Given the description of an element on the screen output the (x, y) to click on. 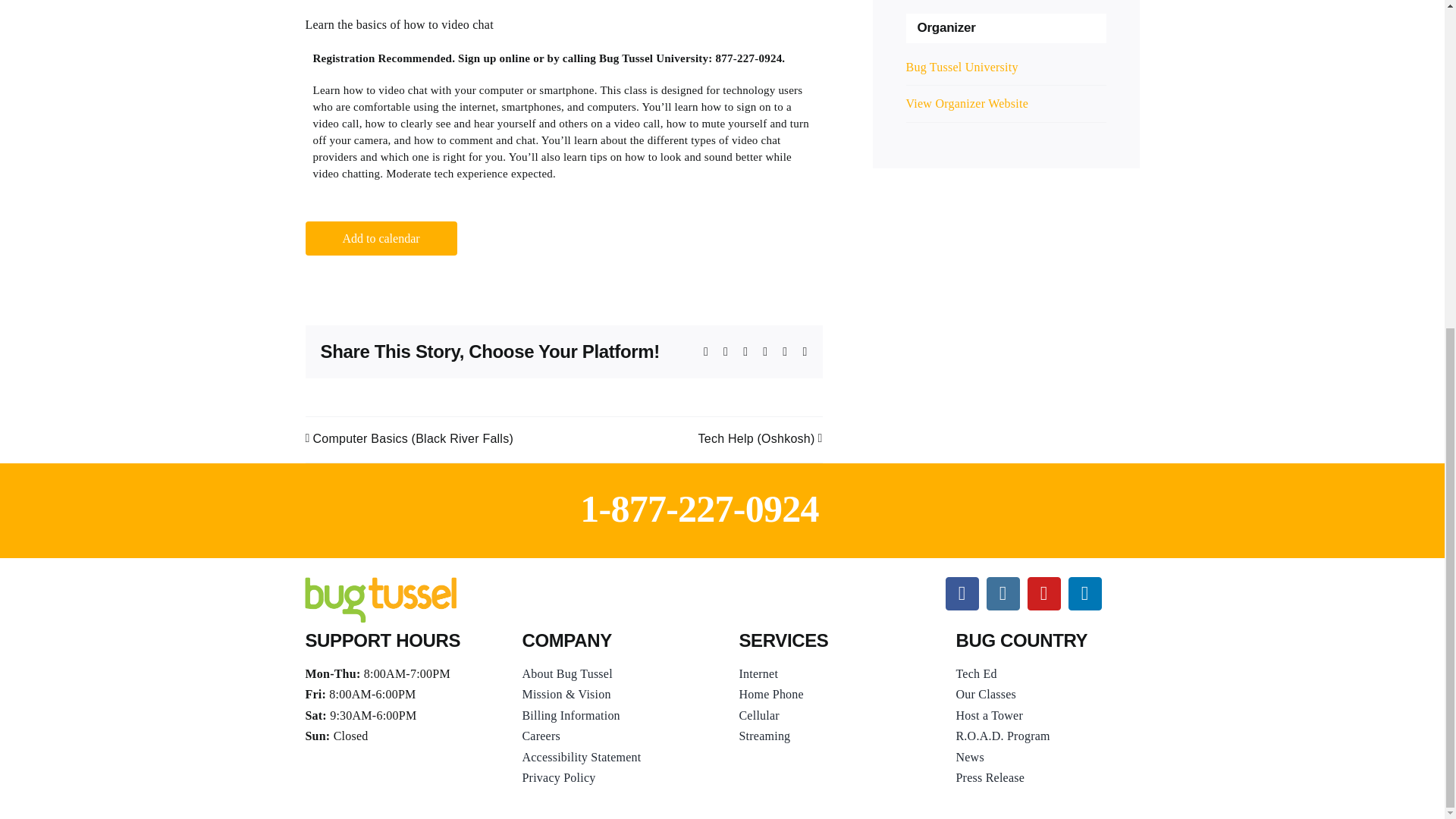
Instagram (1003, 593)
Facebook (961, 593)
Bug Tussel University (961, 66)
Btlogo 800 (380, 599)
YouTube (1044, 593)
LinkedIn (1085, 593)
